Given the description of an element on the screen output the (x, y) to click on. 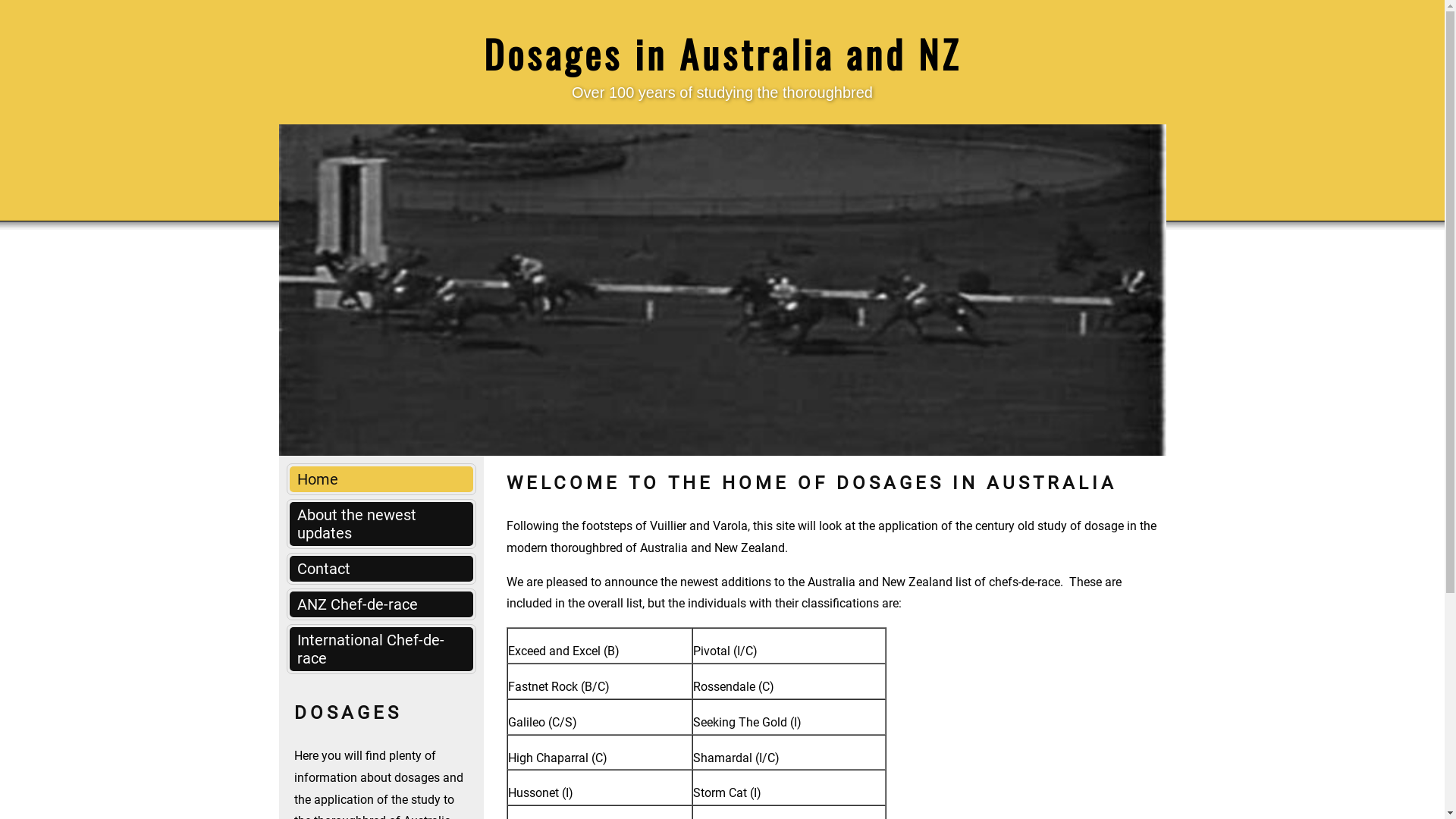
International Chef-de-race Element type: text (381, 649)
About the newest updates Element type: text (381, 524)
Contact Element type: text (381, 568)
Dosages in Australia and NZ Element type: text (722, 53)
Home Element type: text (381, 479)
ANZ Chef-de-race Element type: text (381, 604)
